Given the description of an element on the screen output the (x, y) to click on. 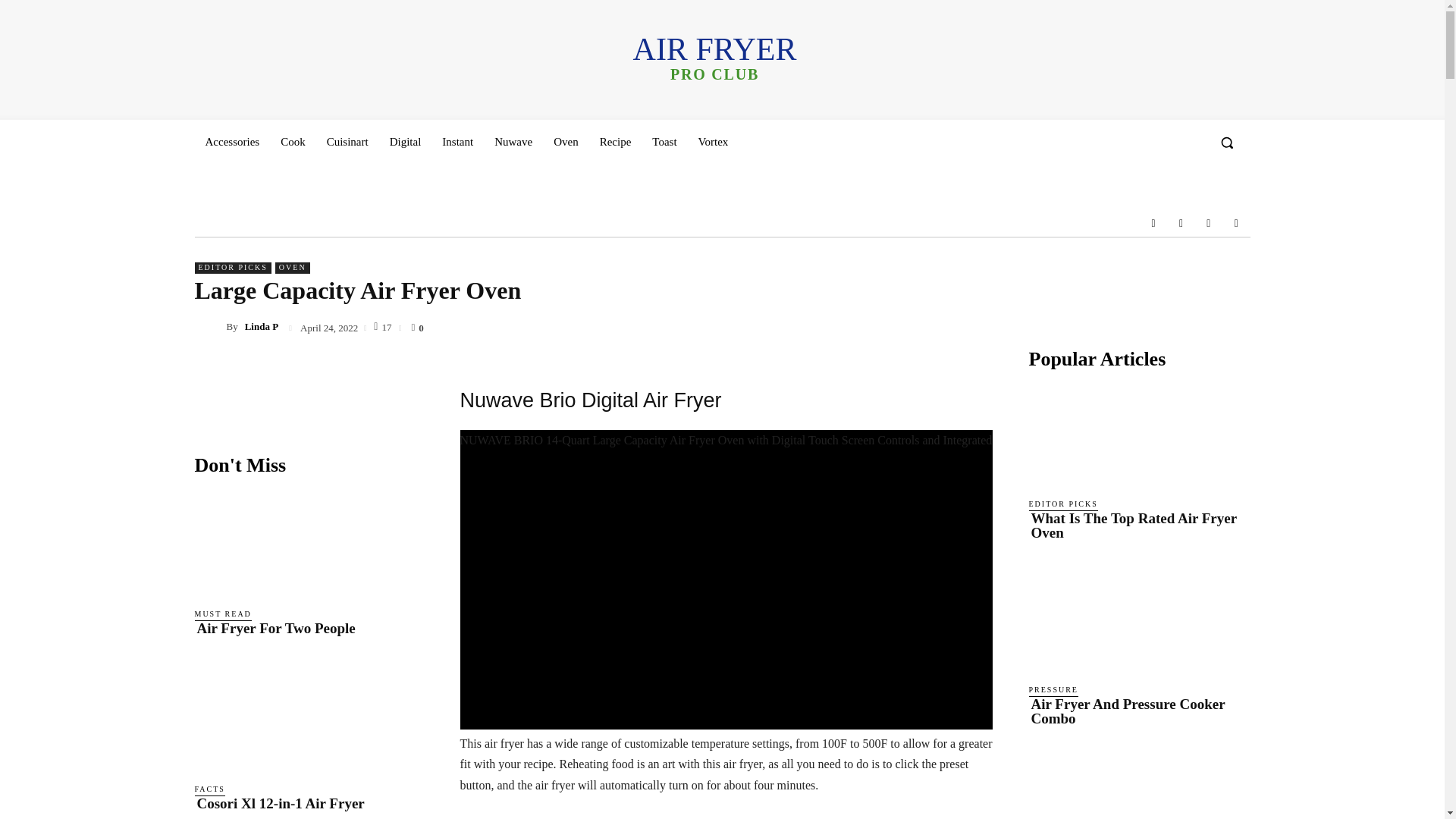
Instant (456, 141)
Toast (664, 141)
Accessories (231, 141)
Oven (566, 141)
VKontakte (1209, 222)
Instagram (1180, 222)
Cuisinart (346, 141)
Digital (405, 141)
Vortex (713, 141)
